Given the description of an element on the screen output the (x, y) to click on. 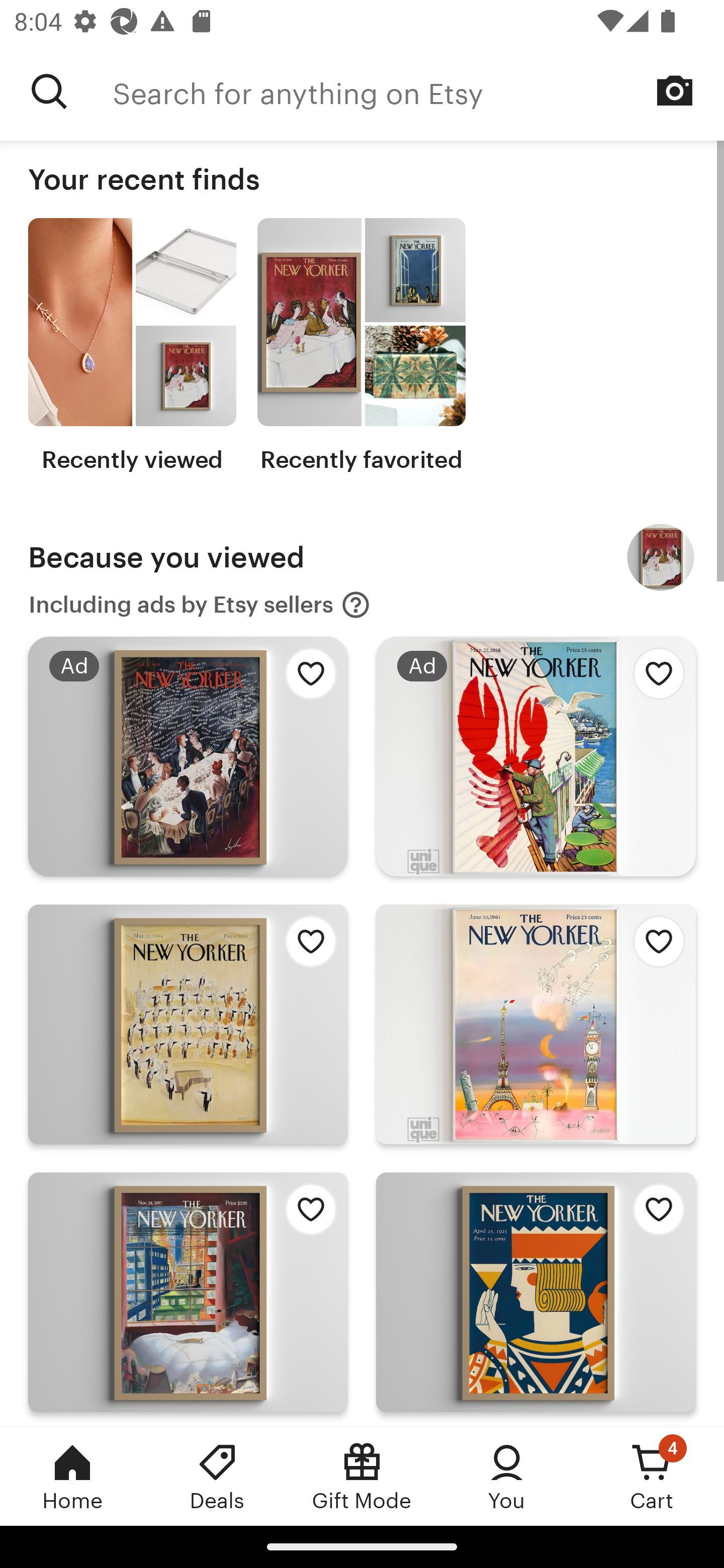
Search for anything on Etsy (49, 91)
Search by image (674, 90)
Search for anything on Etsy (418, 91)
Recently viewed (132, 345)
Recently favorited (361, 345)
Including ads by Etsy sellers (199, 604)
Deals (216, 1475)
Gift Mode (361, 1475)
You (506, 1475)
Cart, 4 new notifications Cart (651, 1475)
